Given the description of an element on the screen output the (x, y) to click on. 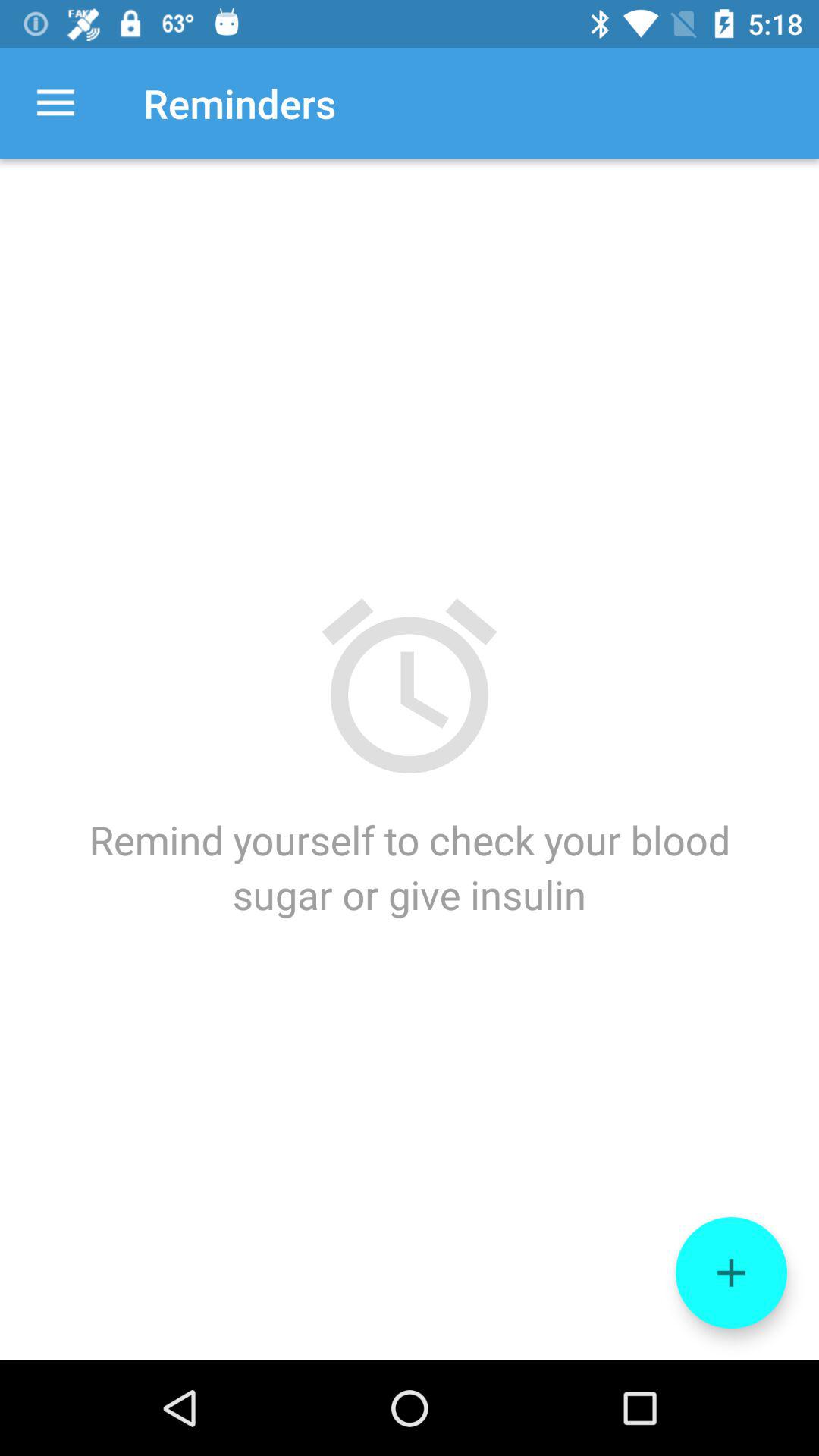
launch icon above remind yourself to (55, 103)
